Given the description of an element on the screen output the (x, y) to click on. 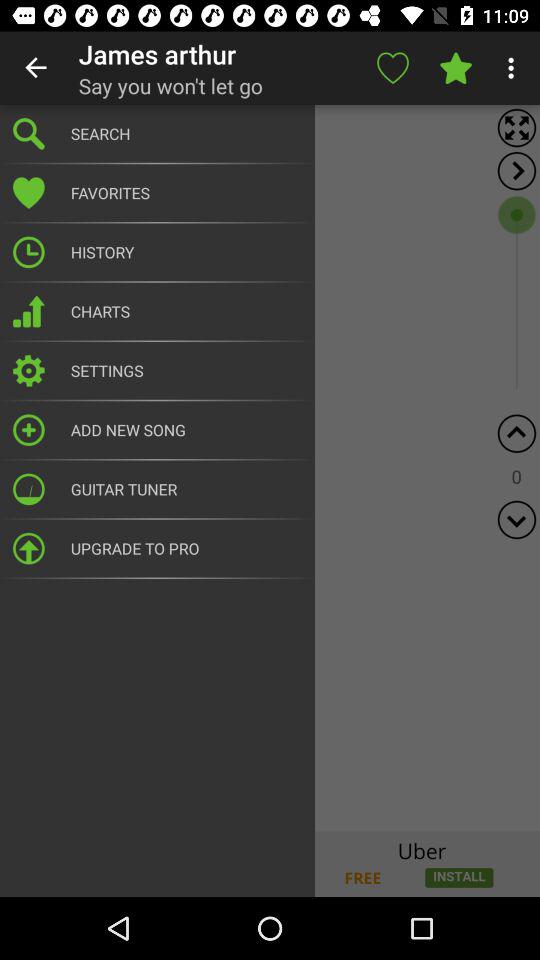
view the history of what you have looked at (270, 468)
